Given the description of an element on the screen output the (x, y) to click on. 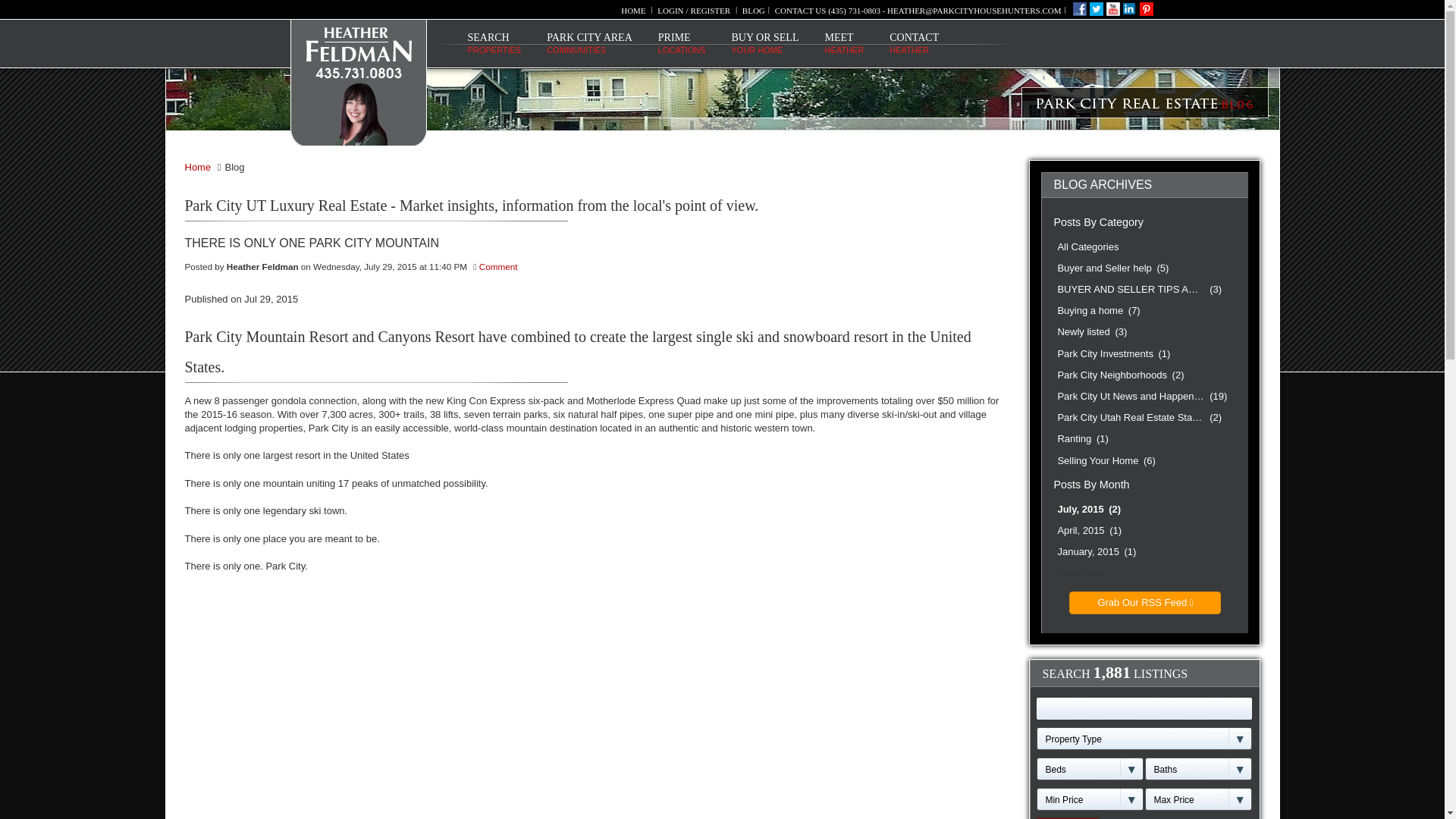
REGISTER (710, 10)
There is only one Park City Mountain (589, 43)
HOME (494, 43)
BLOG (595, 243)
